Given the description of an element on the screen output the (x, y) to click on. 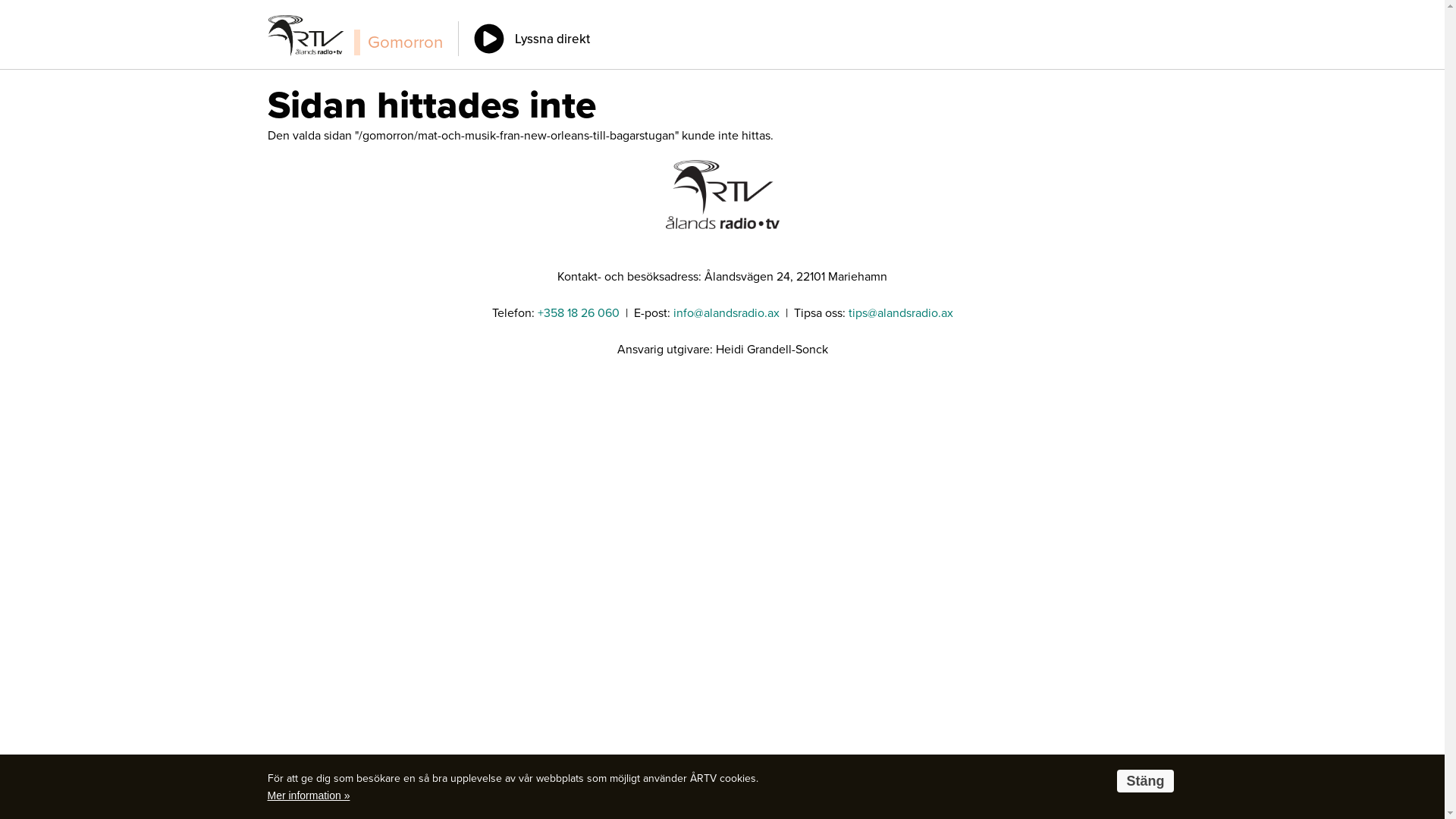
info@alandsradio.ax Element type: text (726, 312)
+358 18 26 060 Element type: text (577, 312)
Lyssna direkt Element type: text (531, 38)
tips@alandsradio.ax Element type: text (899, 312)
